Given the description of an element on the screen output the (x, y) to click on. 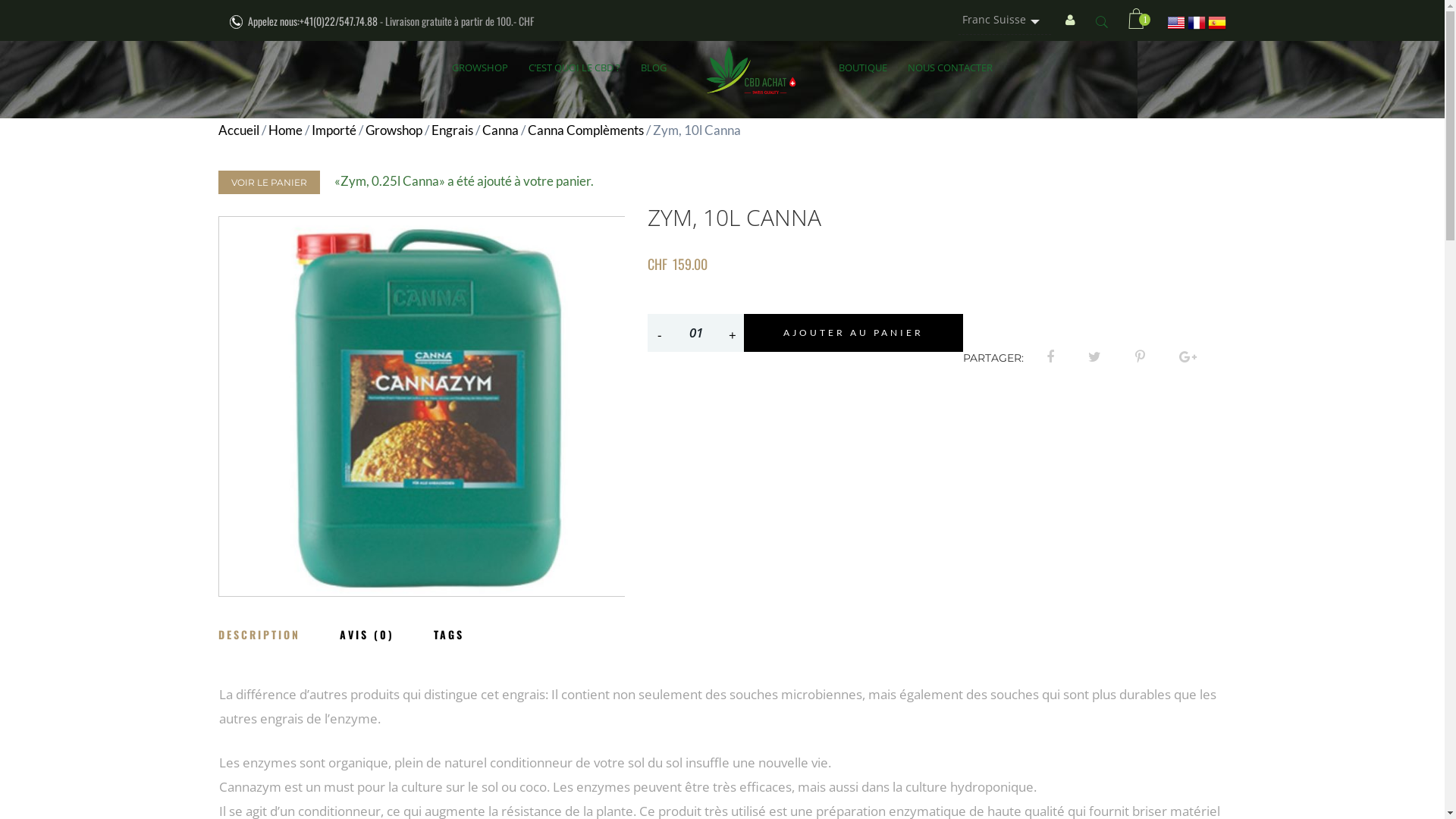
Engrais Element type: text (451, 130)
- Element type: text (659, 334)
Spanish Element type: hover (1217, 20)
English Element type: hover (1176, 20)
NOUS CONTACTER Element type: text (949, 67)
GROWSHOP Element type: text (479, 67)
1 Element type: text (1136, 20)
AVIS (0) Element type: text (385, 628)
+ Element type: text (732, 334)
BOUTIQUE Element type: text (862, 67)
VOIR LE PANIER Element type: text (269, 182)
Zym, 10l Canna Element type: hover (421, 406)
BLOG Element type: text (653, 67)
Home Element type: text (285, 130)
Canna Element type: text (500, 130)
French Element type: hover (1196, 20)
TAGS Element type: text (467, 628)
Appelez nous:+41(0)22/547.74.88 Element type: text (311, 20)
AJOUTER AU PANIER Element type: text (853, 332)
Growshop Element type: text (393, 130)
Accueil Element type: text (238, 130)
DESCRIPTION Element type: text (278, 628)
